Given the description of an element on the screen output the (x, y) to click on. 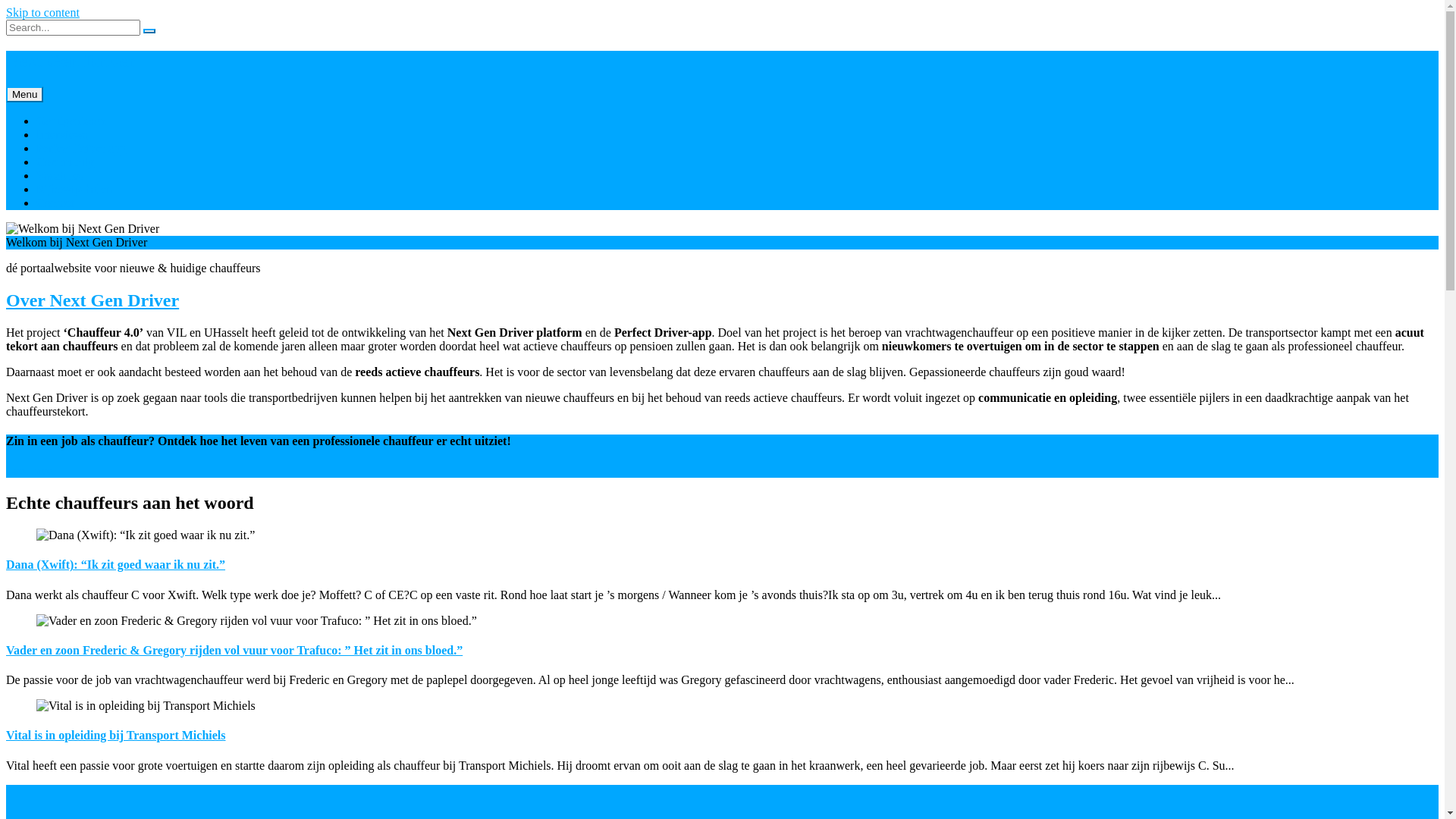
Next Gen Driver Element type: text (722, 60)
Interviews Element type: text (61, 134)
Contact Element type: text (55, 202)
Community Element type: text (65, 161)
Menu Element type: text (24, 94)
Vacatures Element type: text (59, 175)
Getuigenissen Element type: text (70, 120)
Vital is in opleiding bij Transport Michiels Element type: text (115, 734)
Over Next Gen Driver Element type: text (92, 300)
Perfect Driver app Element type: text (80, 147)
Rijbewijs halen Element type: text (74, 188)
Lees meer Element type: text (31, 470)
Skip to content Element type: text (42, 12)
